Given the description of an element on the screen output the (x, y) to click on. 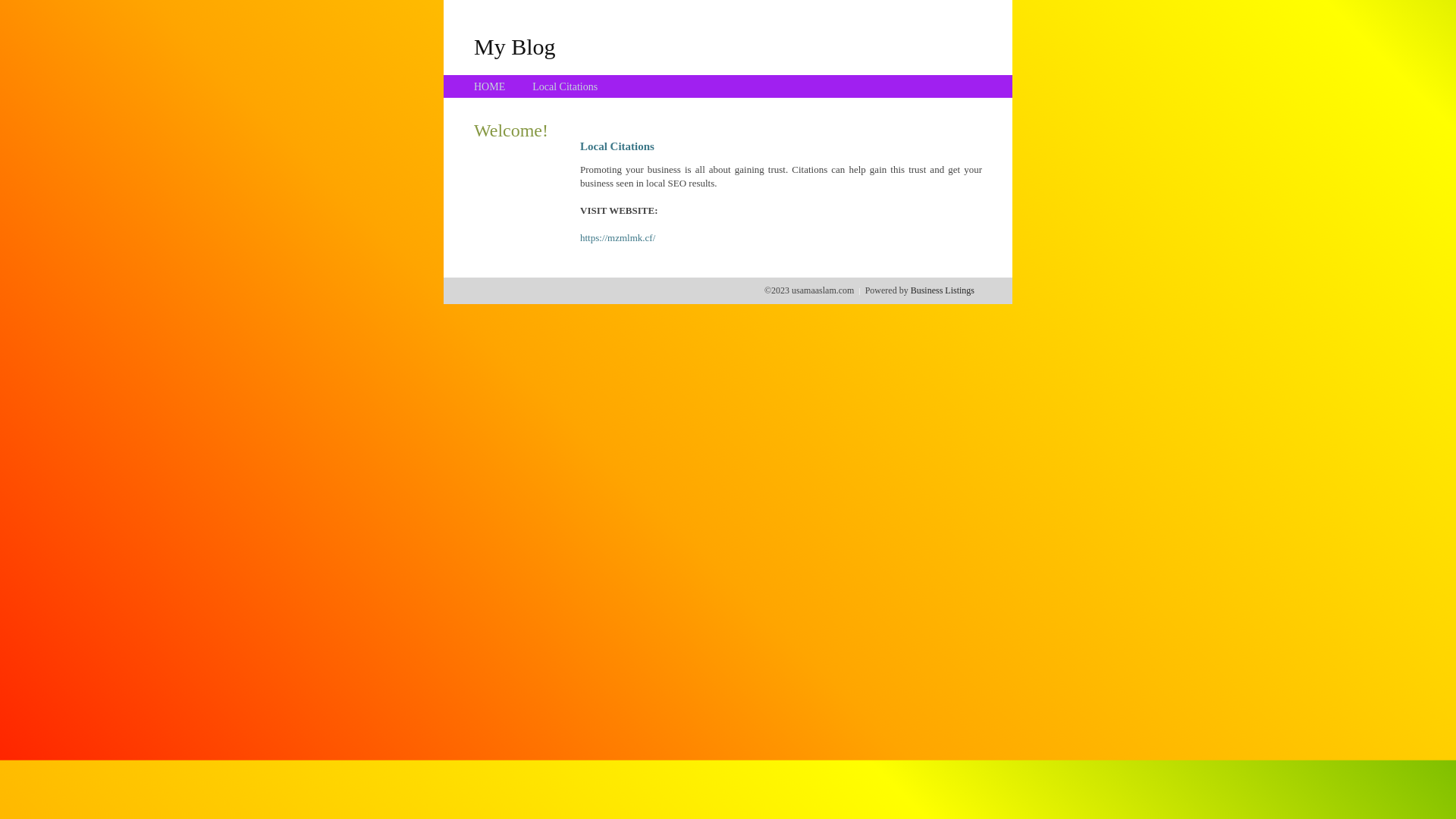
HOME Element type: text (489, 86)
https://mzmlmk.cf/ Element type: text (617, 237)
Business Listings Element type: text (942, 290)
My Blog Element type: text (514, 46)
Local Citations Element type: text (564, 86)
